Given the description of an element on the screen output the (x, y) to click on. 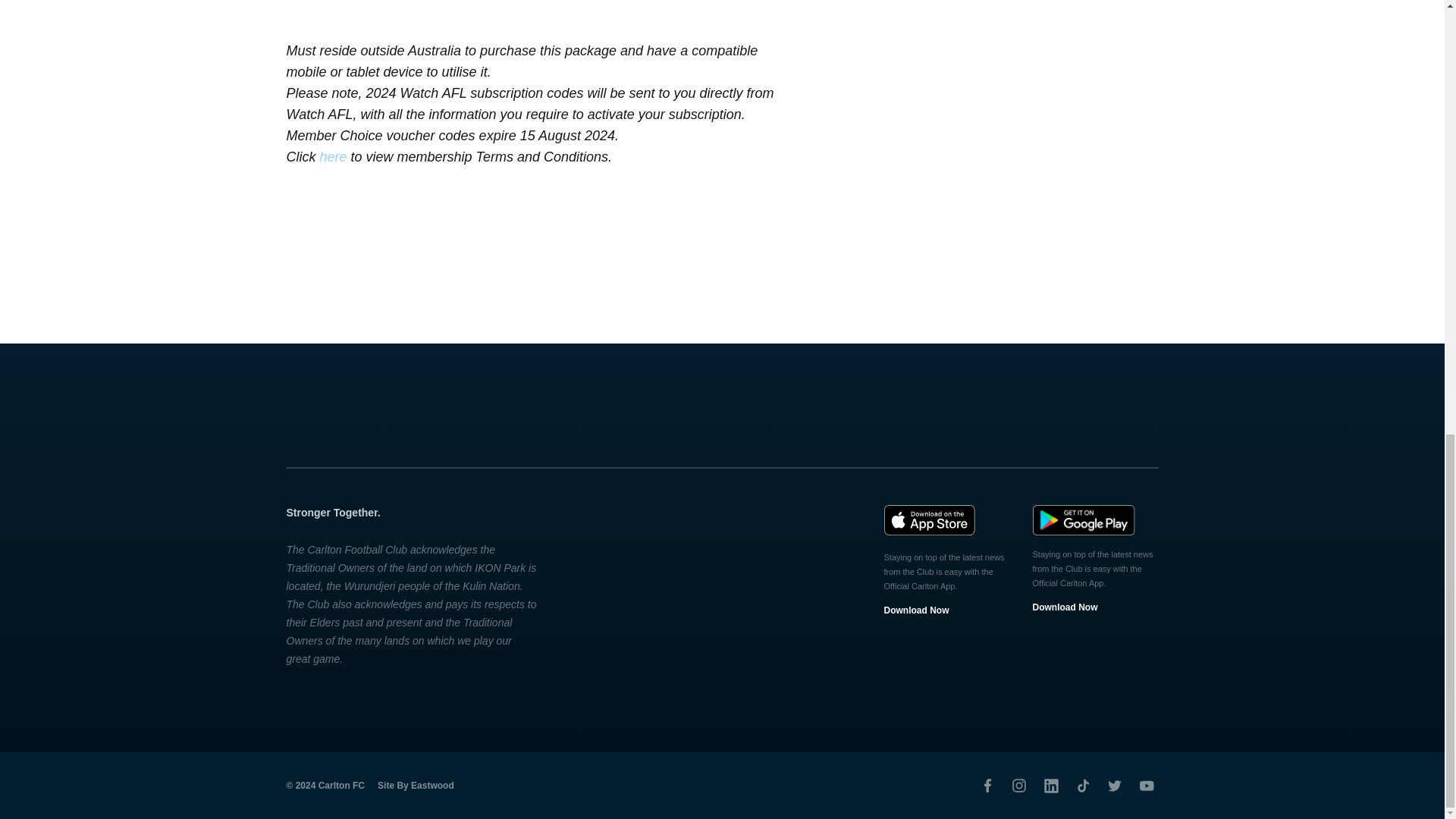
here (333, 156)
Download Now (1064, 607)
Site By Eastwood (415, 785)
Download Now (916, 610)
